Given the description of an element on the screen output the (x, y) to click on. 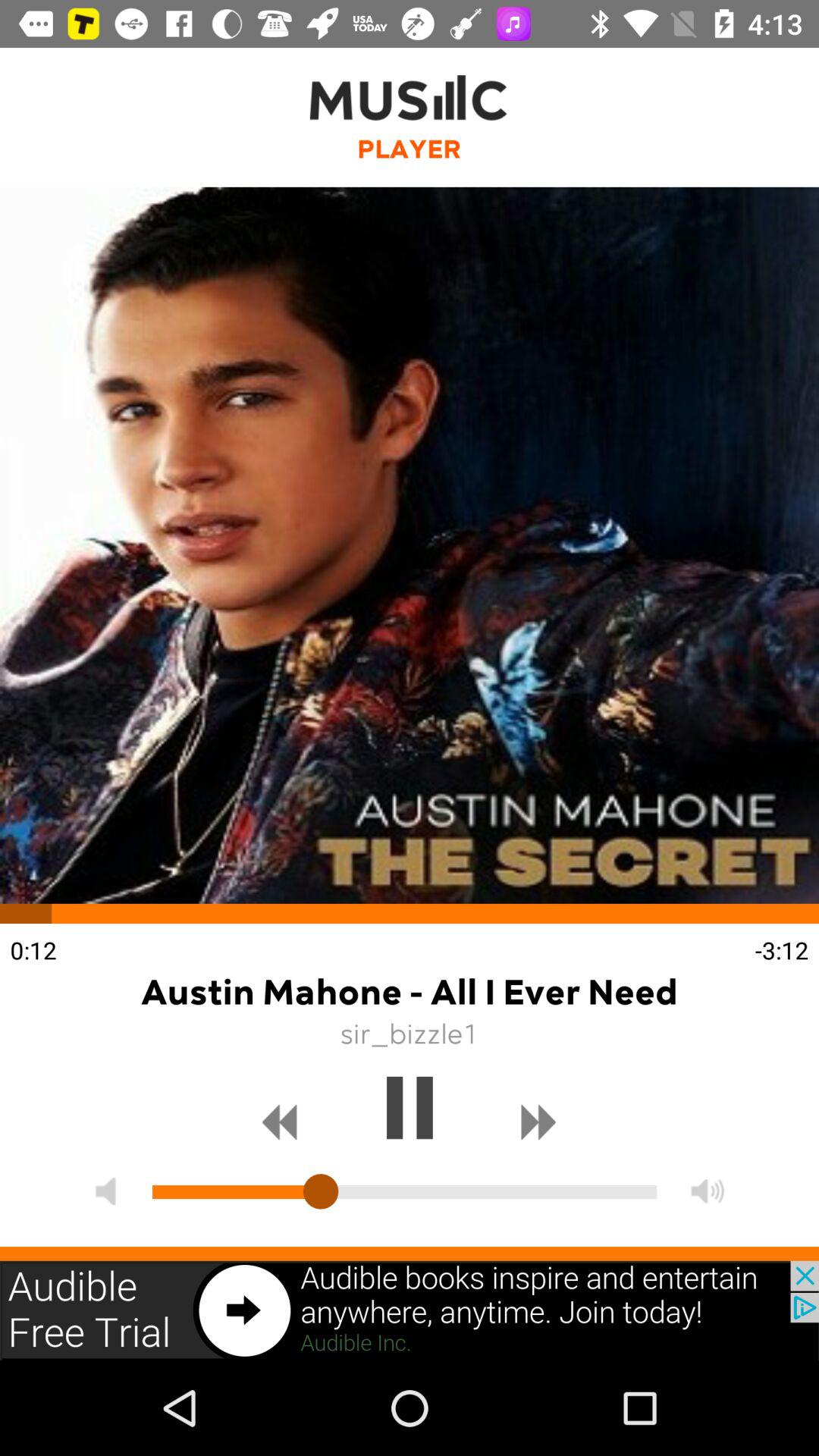
skip forward (538, 1122)
